Given the description of an element on the screen output the (x, y) to click on. 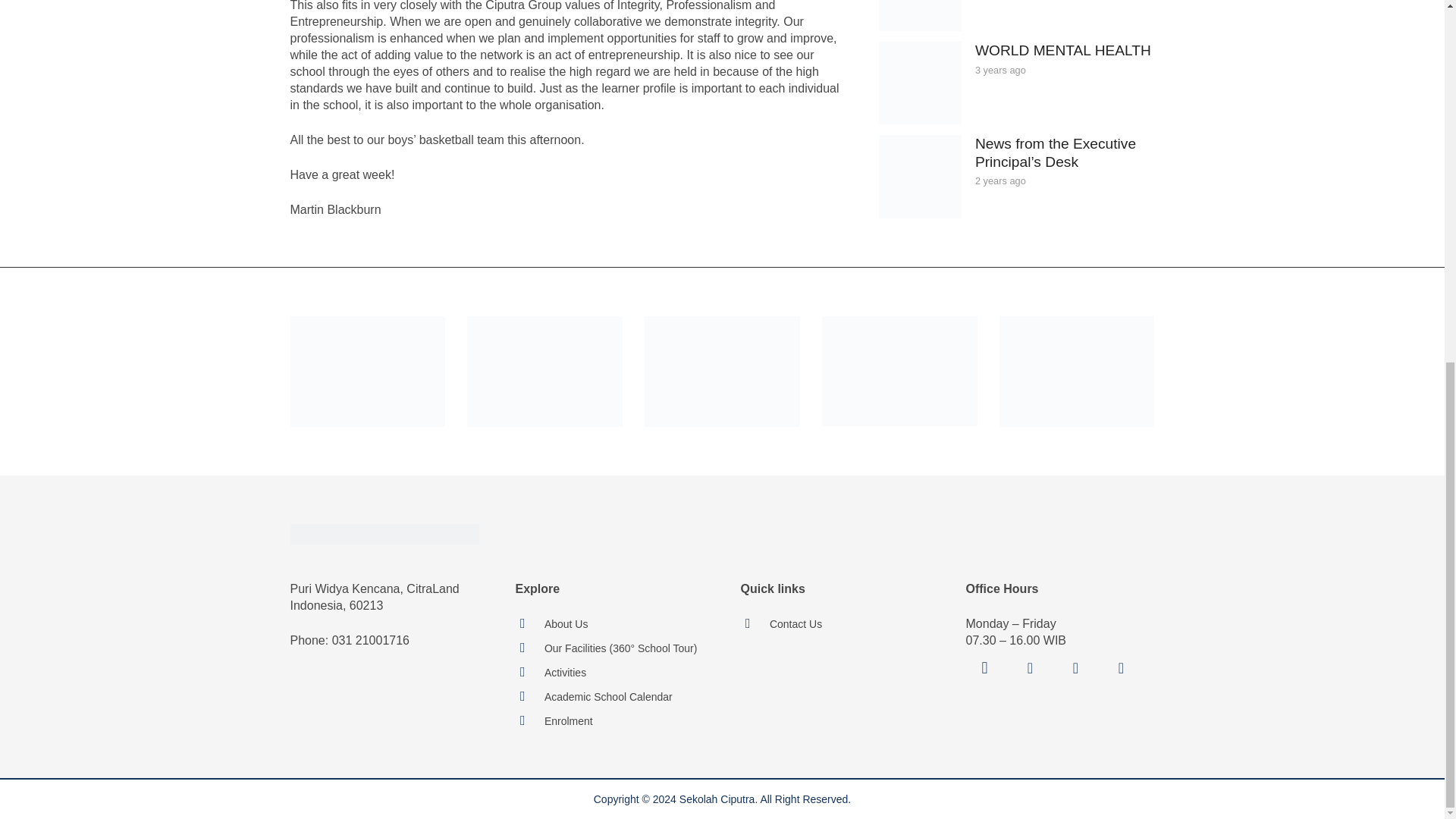
LinkedIn (1121, 668)
Instagram (985, 668)
Back to top (1413, 199)
YouTube (1075, 668)
Facebook (1030, 668)
